Given the description of an element on the screen output the (x, y) to click on. 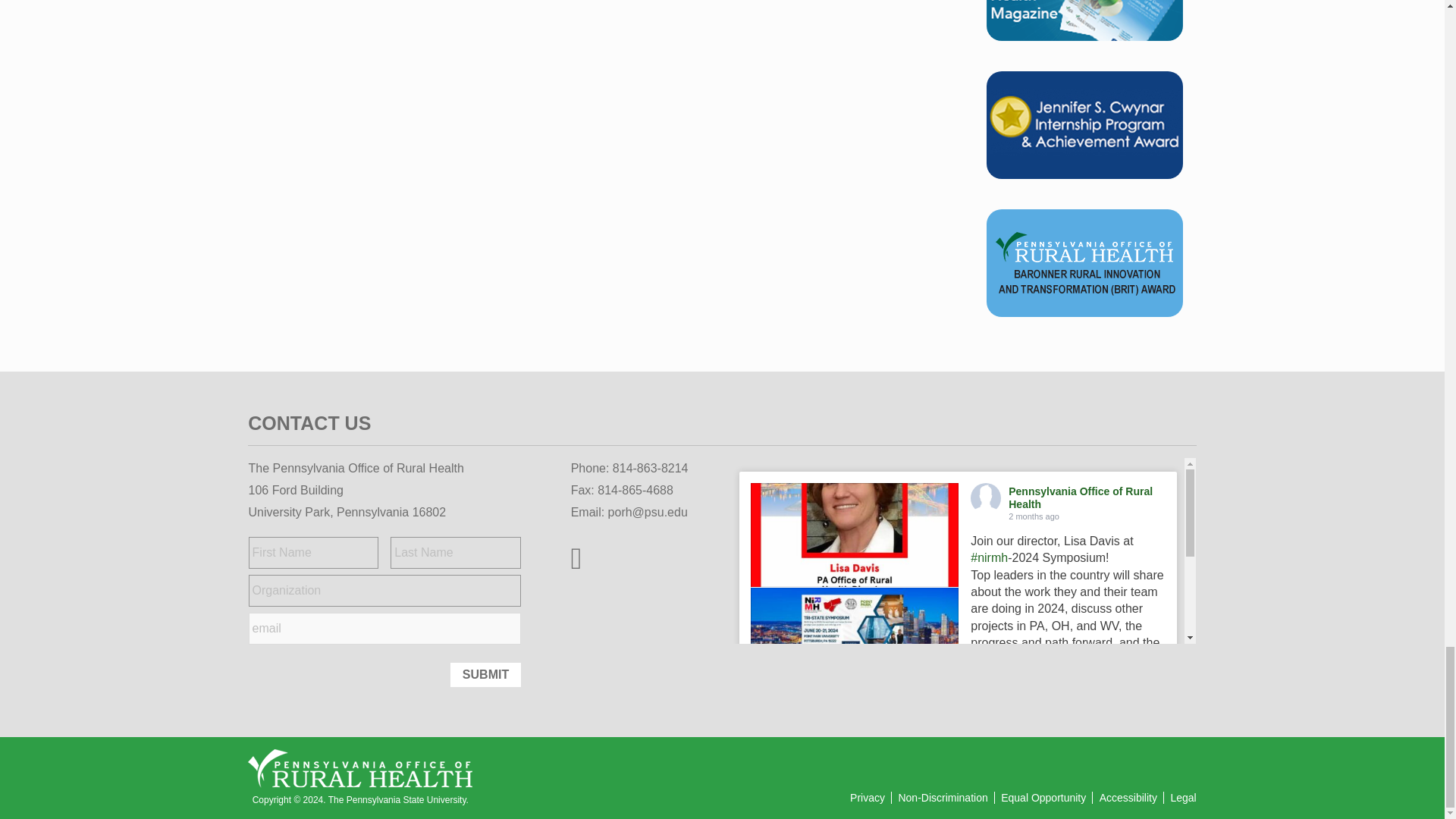
Submit (485, 674)
Share (1154, 758)
View on Facebook (1096, 758)
